Given the description of an element on the screen output the (x, y) to click on. 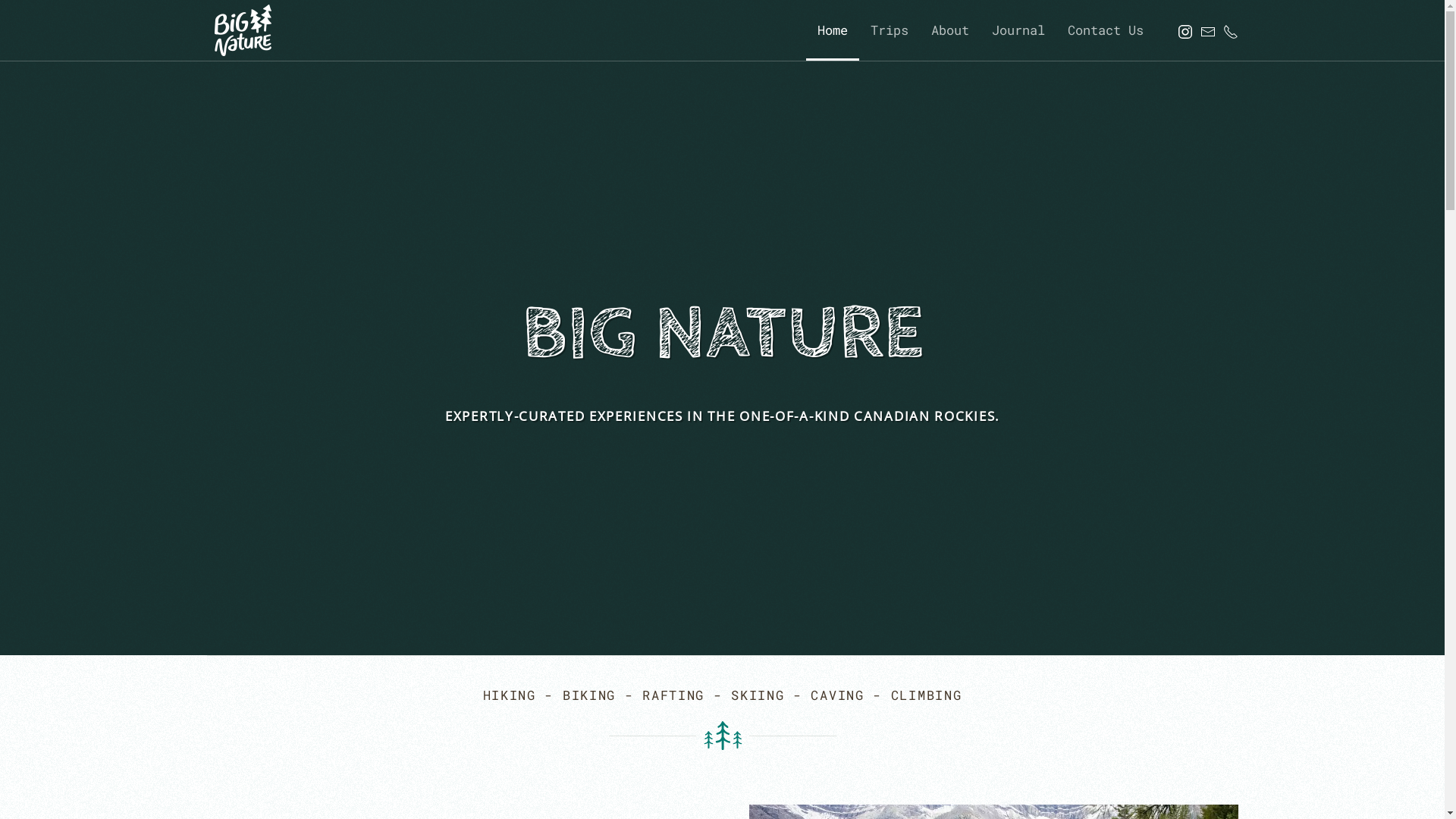
Trips Element type: text (888, 30)
About Element type: text (949, 30)
Journal Element type: text (1017, 30)
Contact Us Element type: text (1104, 30)
Home Element type: text (831, 30)
